Given the description of an element on the screen output the (x, y) to click on. 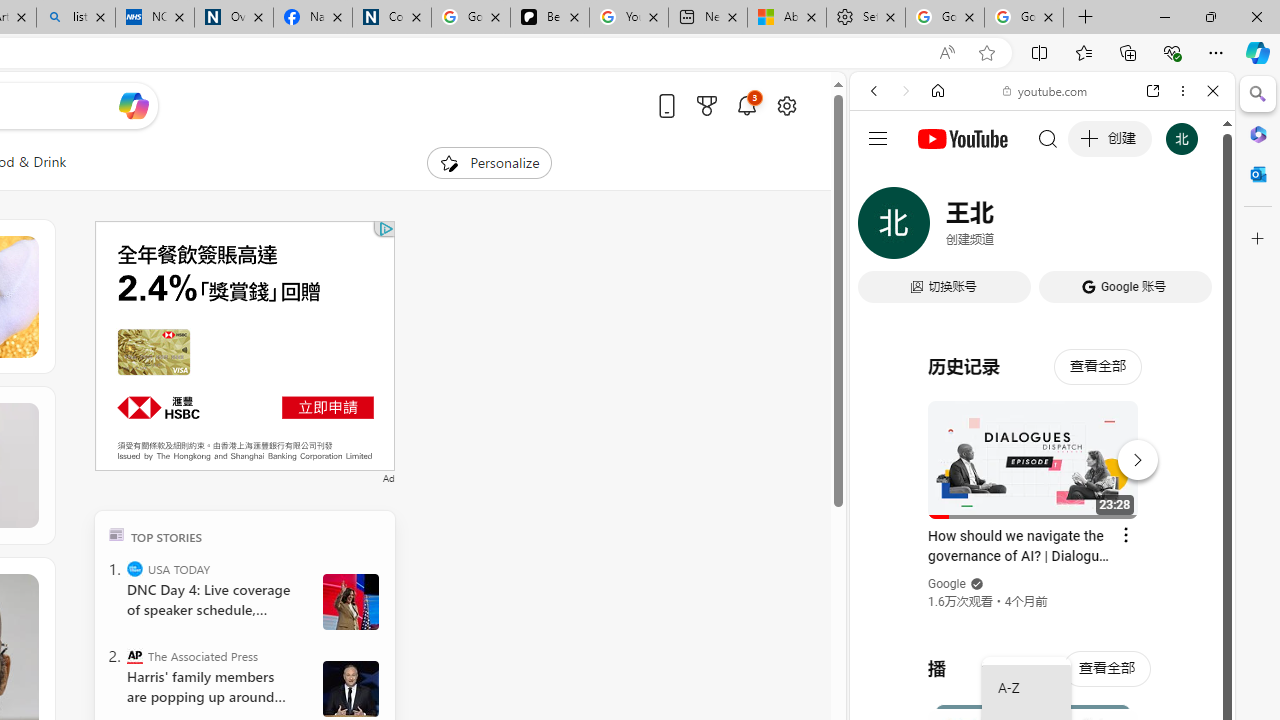
Music (1042, 543)
Trailer #2 [HD] (1042, 594)
SEARCH TOOLS (1093, 228)
Google (947, 584)
